Given the description of an element on the screen output the (x, y) to click on. 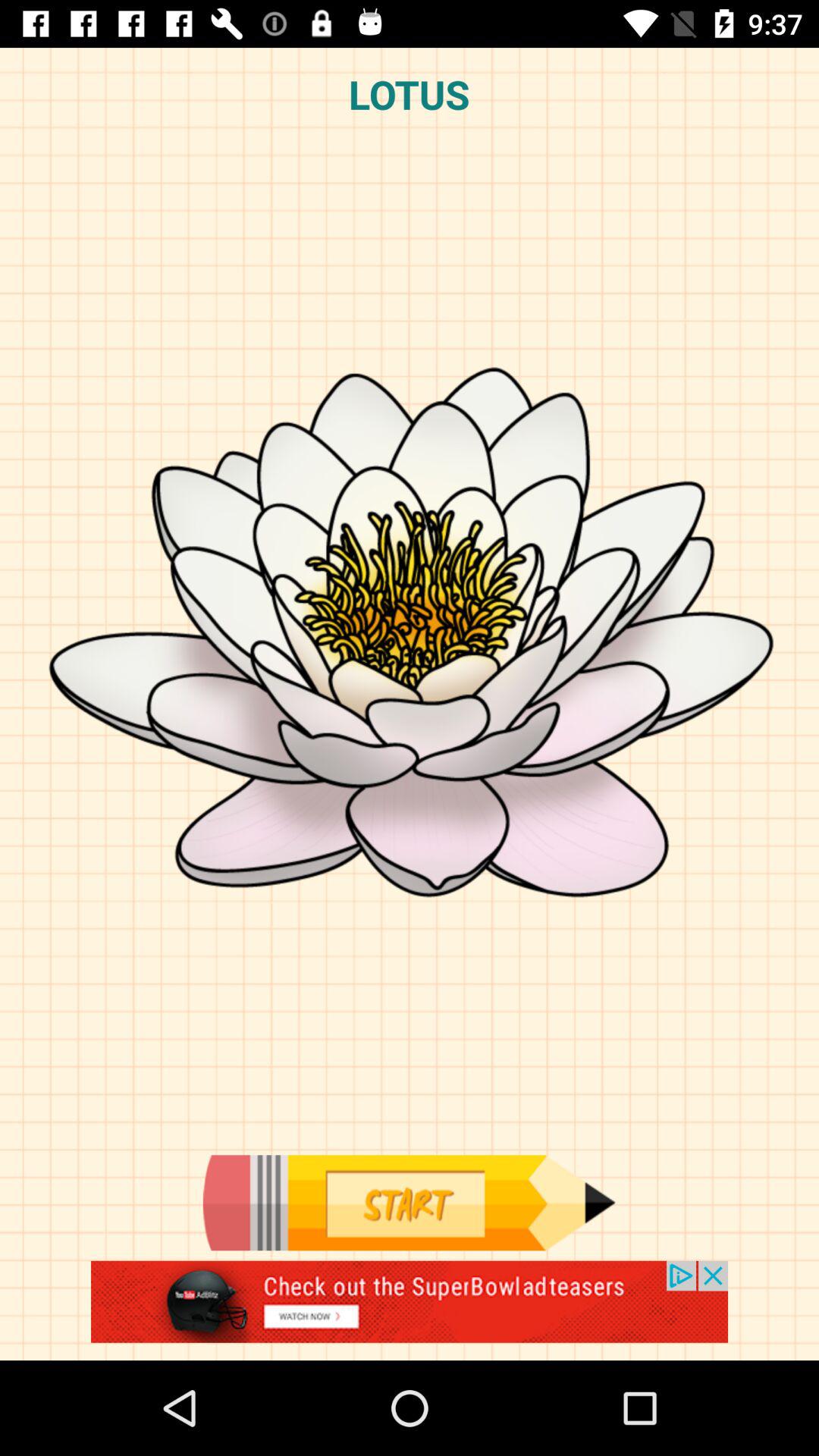
start button (409, 1202)
